Given the description of an element on the screen output the (x, y) to click on. 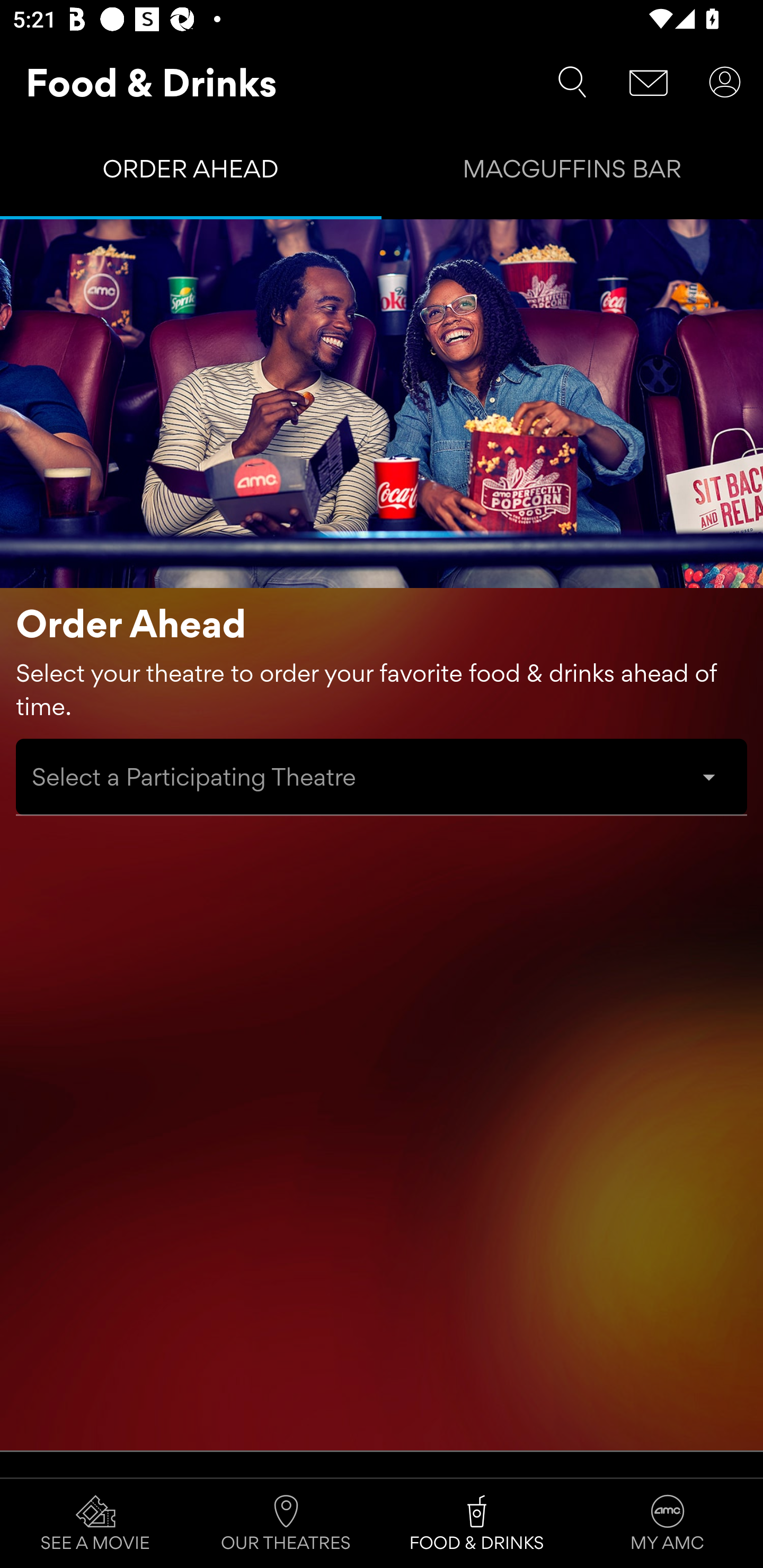
Search (572, 82)
Message Center (648, 82)
User Account (724, 82)
ORDER AHEAD
Tab 1 of 2 (190, 173)
MACGUFFINS BAR
Tab 2 of 2 (572, 173)
SEE A MOVIE
Tab 1 of 4 (95, 1523)
OUR THEATRES
Tab 2 of 4 (285, 1523)
FOOD & DRINKS
Tab 3 of 4 (476, 1523)
MY AMC
Tab 4 of 4 (667, 1523)
